Given the description of an element on the screen output the (x, y) to click on. 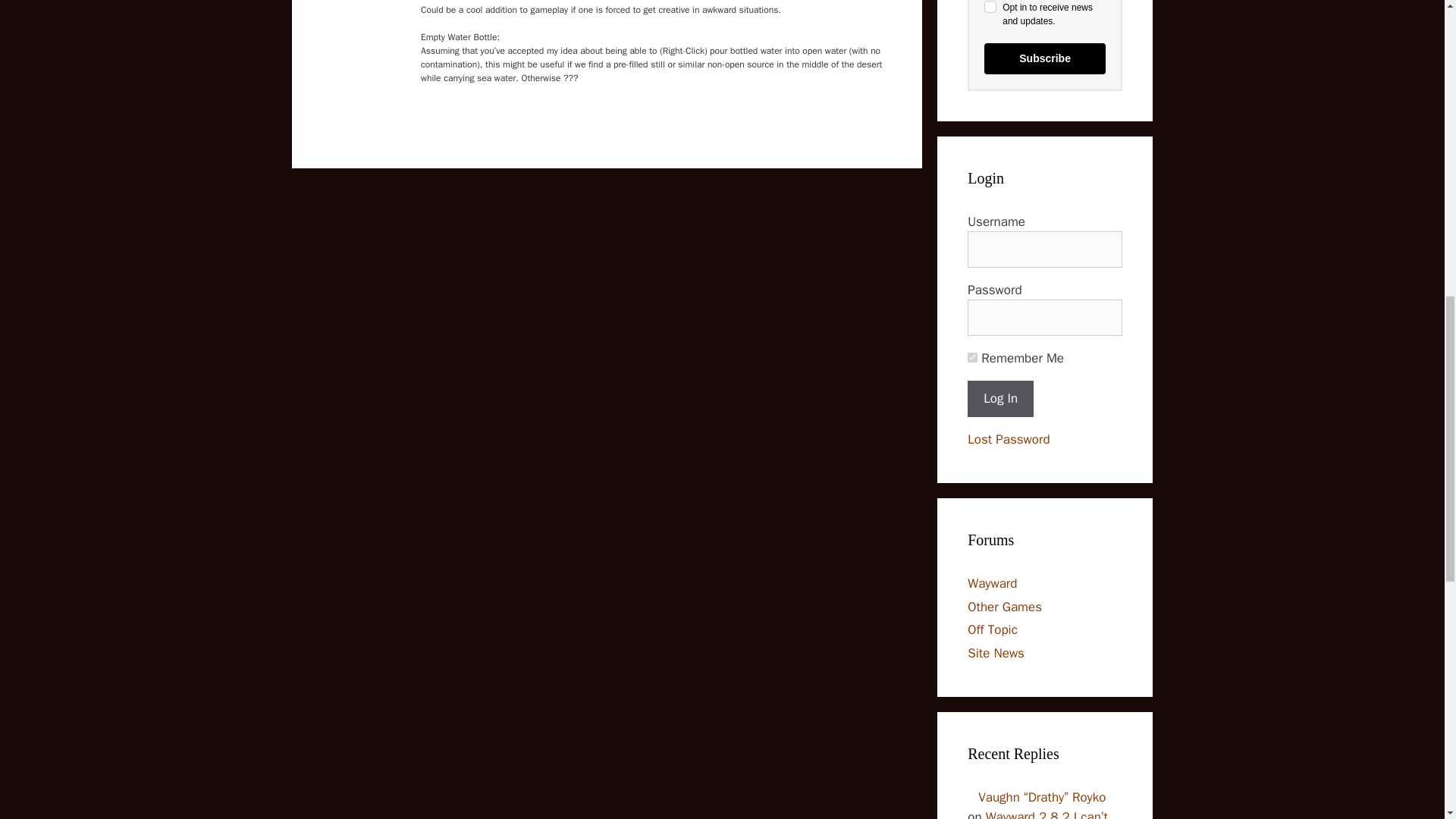
Log In (1000, 398)
forever (972, 357)
